Given the description of an element on the screen output the (x, y) to click on. 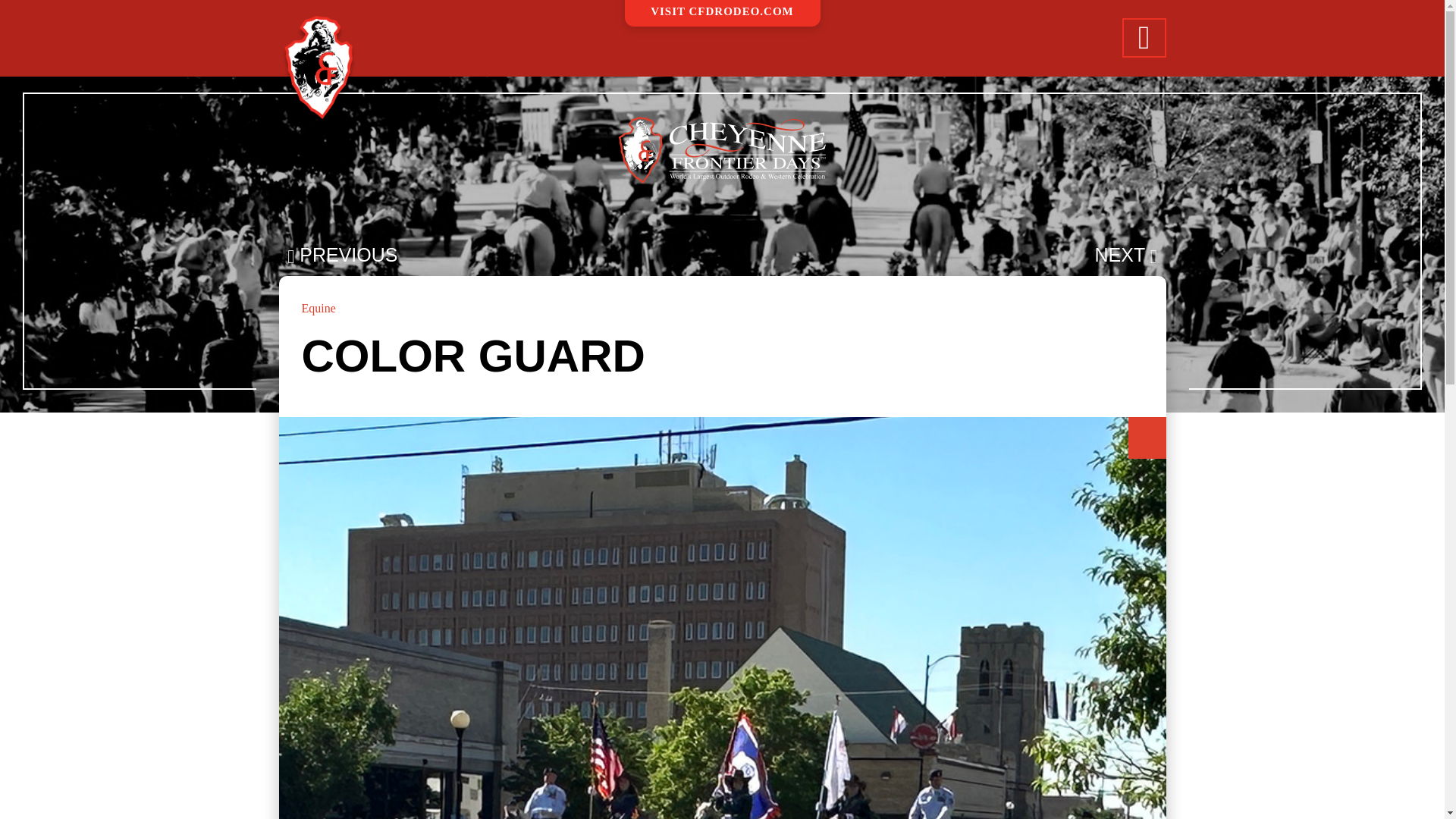
VISIT CFDRODEO.COM (722, 38)
PREVIOUS (341, 255)
NEXT (1125, 255)
